Given the description of an element on the screen output the (x, y) to click on. 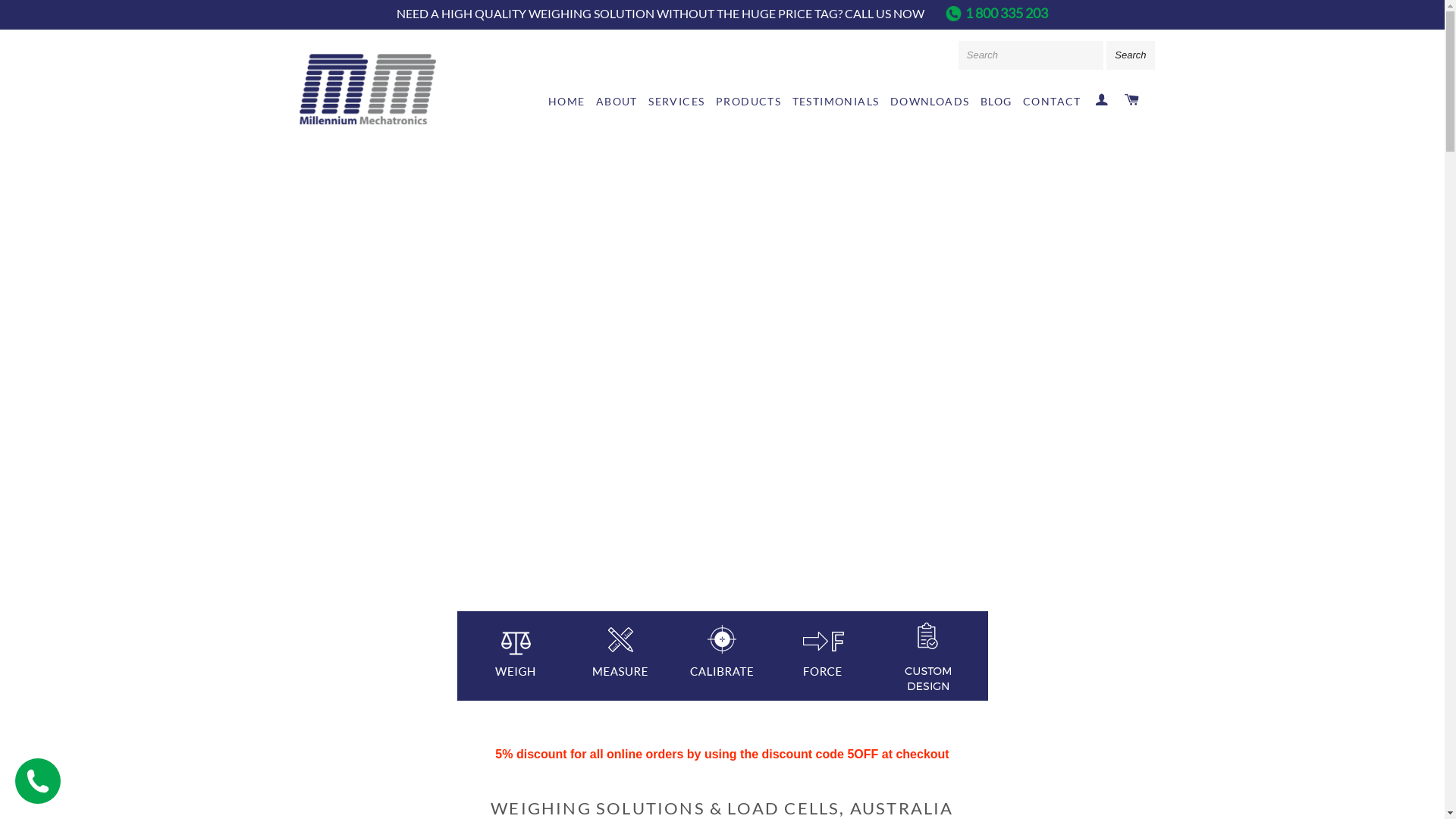
ABOUT Element type: text (616, 101)
1 800 335 203 Element type: text (1006, 12)
CONTACT Element type: text (1052, 101)
HOME Element type: text (566, 101)
TESTIMONIALS Element type: text (835, 101)
Search Element type: text (1130, 54)
PRODUCTS Element type: text (748, 101)
SERVICES Element type: text (676, 101)
BLOG Element type: text (996, 101)
DOWNLOADS Element type: text (929, 101)
LOG IN Element type: text (1101, 99)
CART Element type: text (1131, 99)
